Given the description of an element on the screen output the (x, y) to click on. 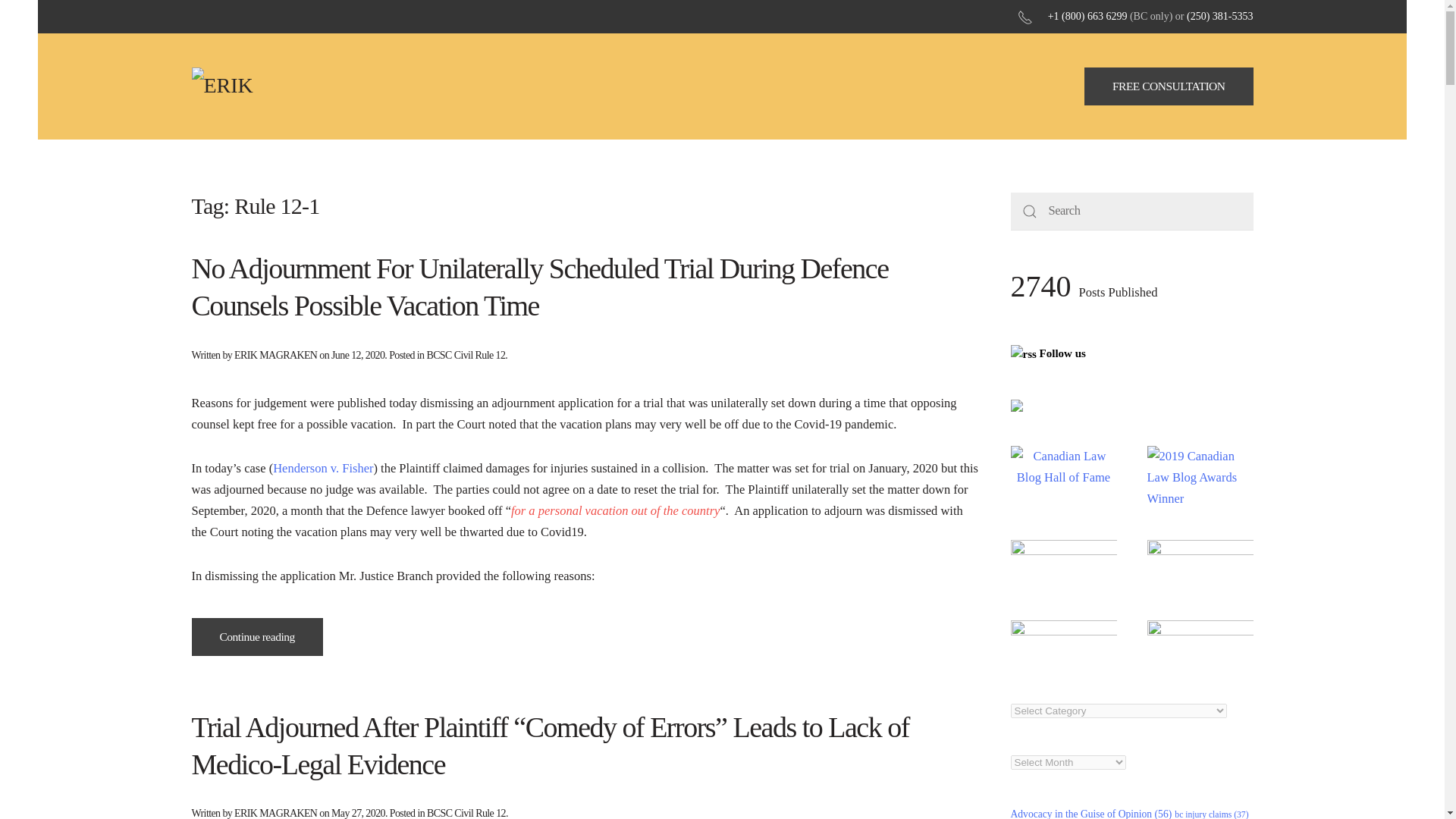
BCSC Civil Rule 12 (465, 813)
ERIK MAGRAKEN (275, 813)
Henderson v. Fisher (322, 468)
Continue reading (255, 636)
BCSC Civil Rule 12 (465, 355)
ERIK MAGRAKEN (275, 355)
FREE CONSULTATION (1168, 86)
